Given the description of an element on the screen output the (x, y) to click on. 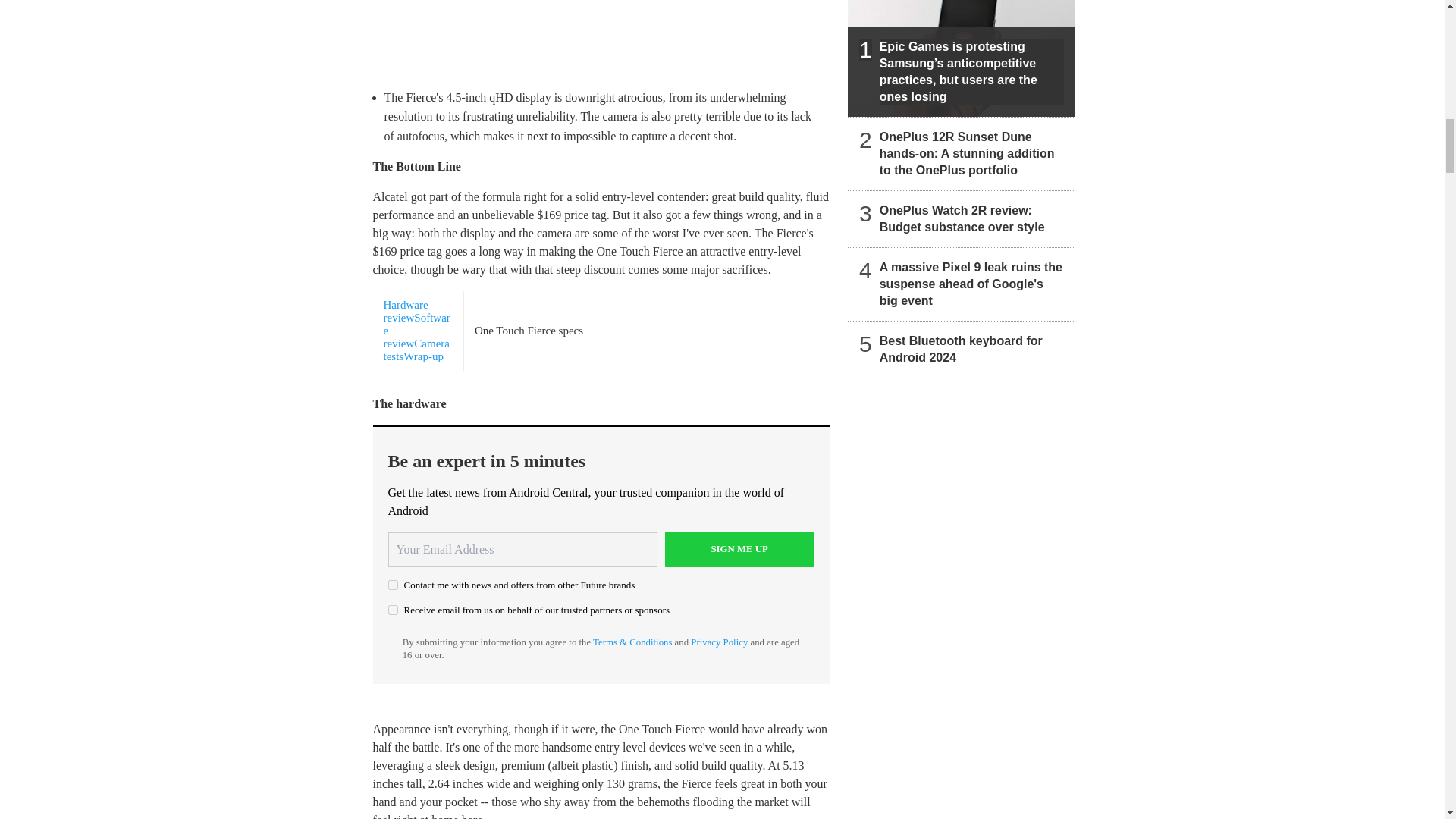
on (392, 584)
Sign me up (739, 549)
on (392, 610)
